Given the description of an element on the screen output the (x, y) to click on. 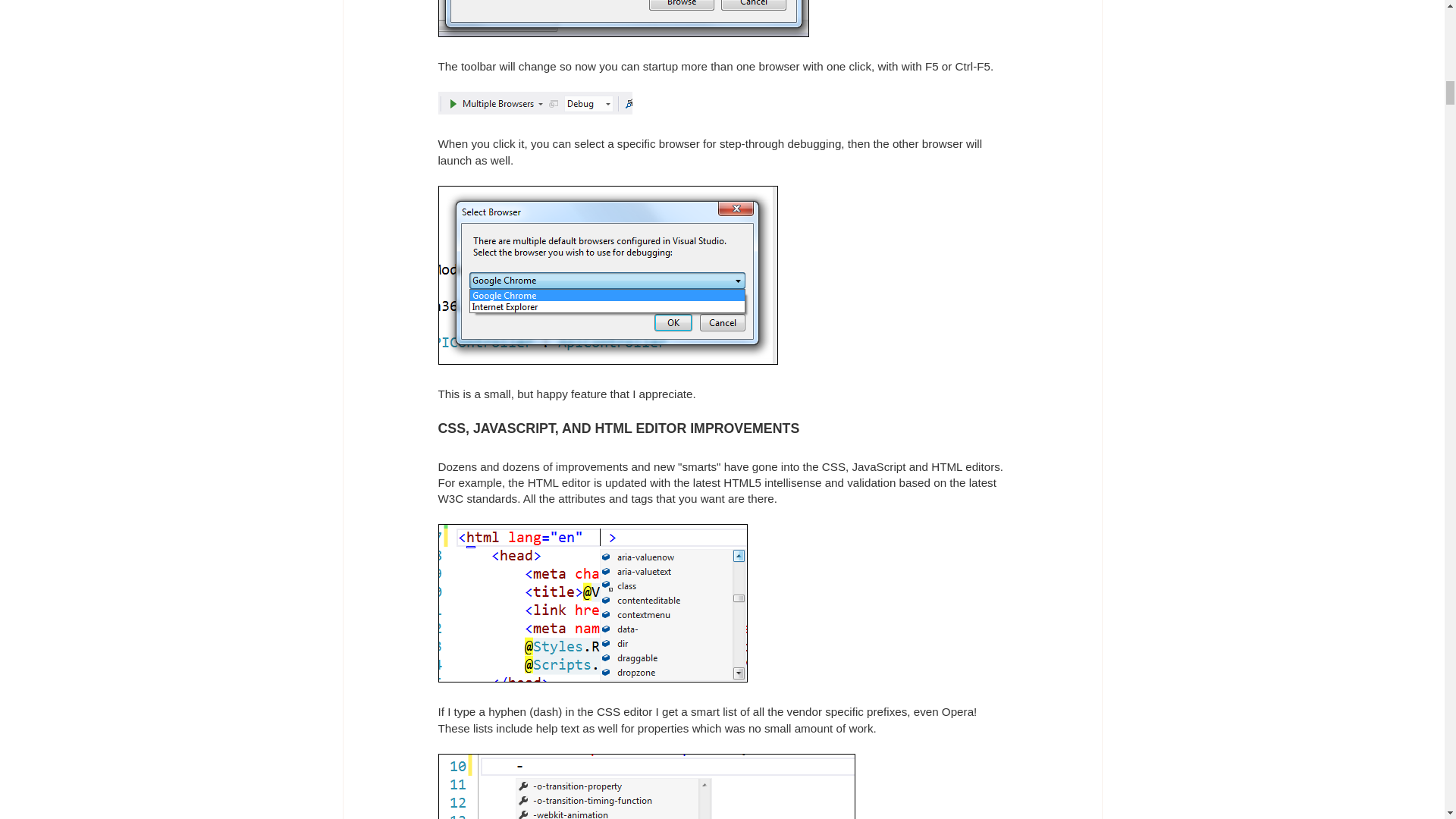
We love you Opera, honest. (647, 786)
Pick a browser for debugging (607, 274)
Browse With supports multiple selection (623, 18)
Multiple Browsers is a choice now for launching your app (534, 102)
aria and data attributes are available (593, 603)
